Given the description of an element on the screen output the (x, y) to click on. 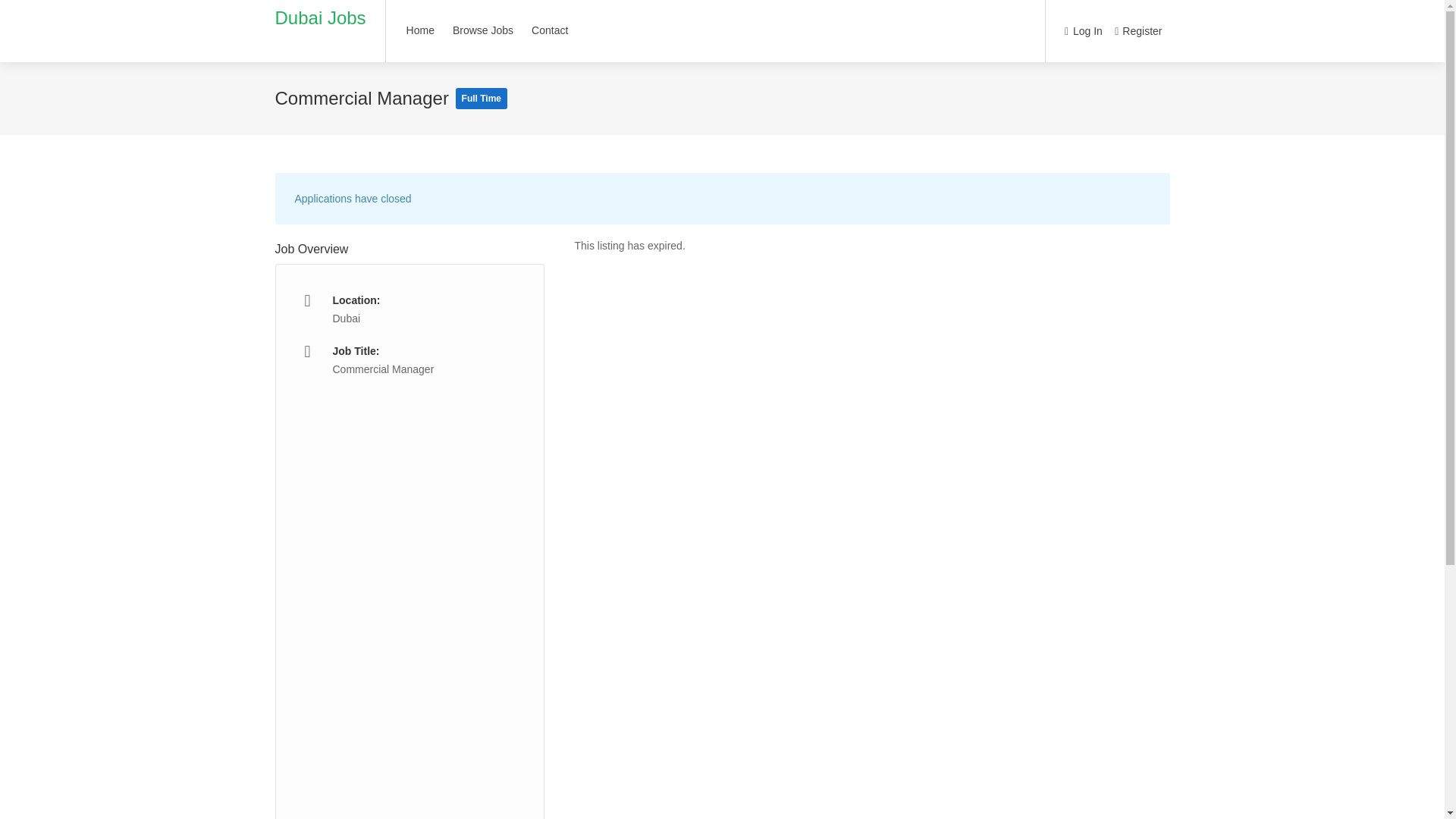
Dubai (345, 318)
Dubai Jobs (320, 17)
Home (419, 30)
Contact (549, 30)
Register (1138, 31)
Log In (1083, 31)
Browse Jobs (482, 30)
Advertisement (409, 599)
Dubai Jobs (320, 17)
